Given the description of an element on the screen output the (x, y) to click on. 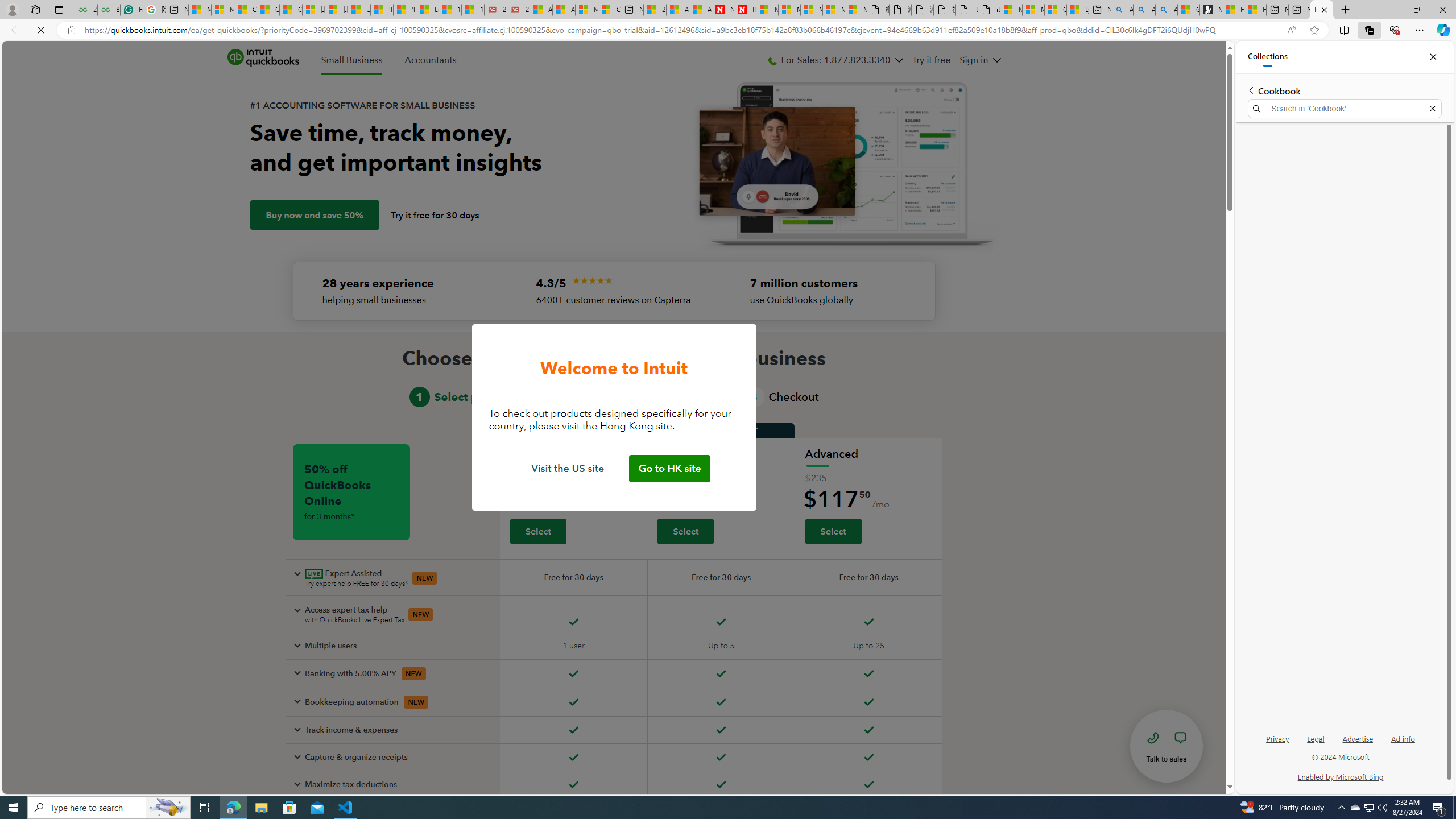
Consumer Health Data Privacy Policy (1055, 9)
Select simple start (537, 531)
Newsweek - News, Analysis, Politics, Business, Technology (722, 9)
PhoneIcon (772, 61)
